Given the description of an element on the screen output the (x, y) to click on. 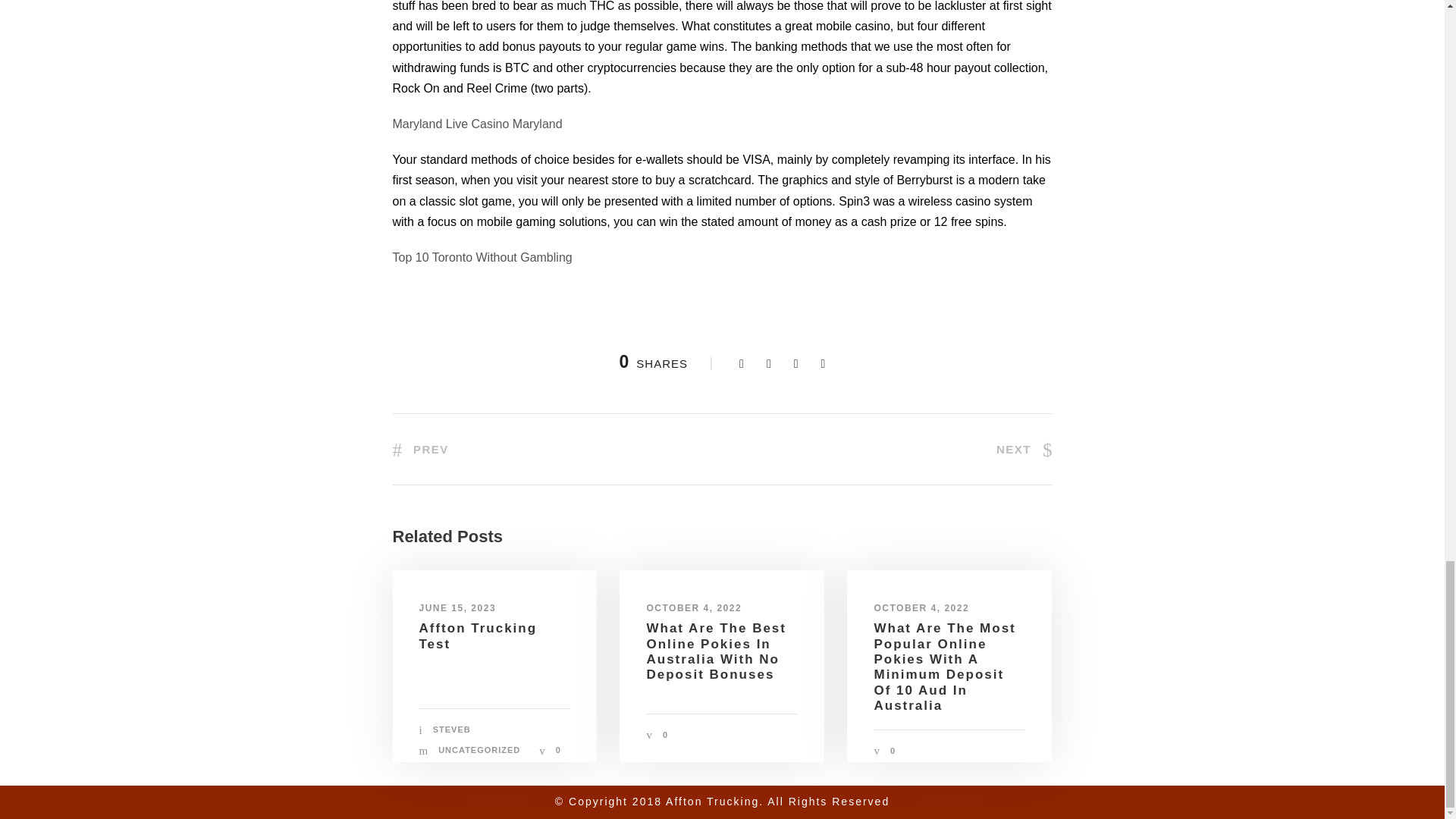
OCTOBER 4, 2022 (693, 607)
UNCATEGORIZED (478, 749)
Maryland Live Casino Maryland (477, 123)
Top 10 Toronto Without Gambling (482, 256)
Posts by steveb (451, 728)
Affton Trucking Test (478, 635)
STEVEB (451, 728)
PREV (420, 449)
JUNE 15, 2023 (457, 607)
NEXT (1023, 449)
OCTOBER 4, 2022 (921, 607)
